Given the description of an element on the screen output the (x, y) to click on. 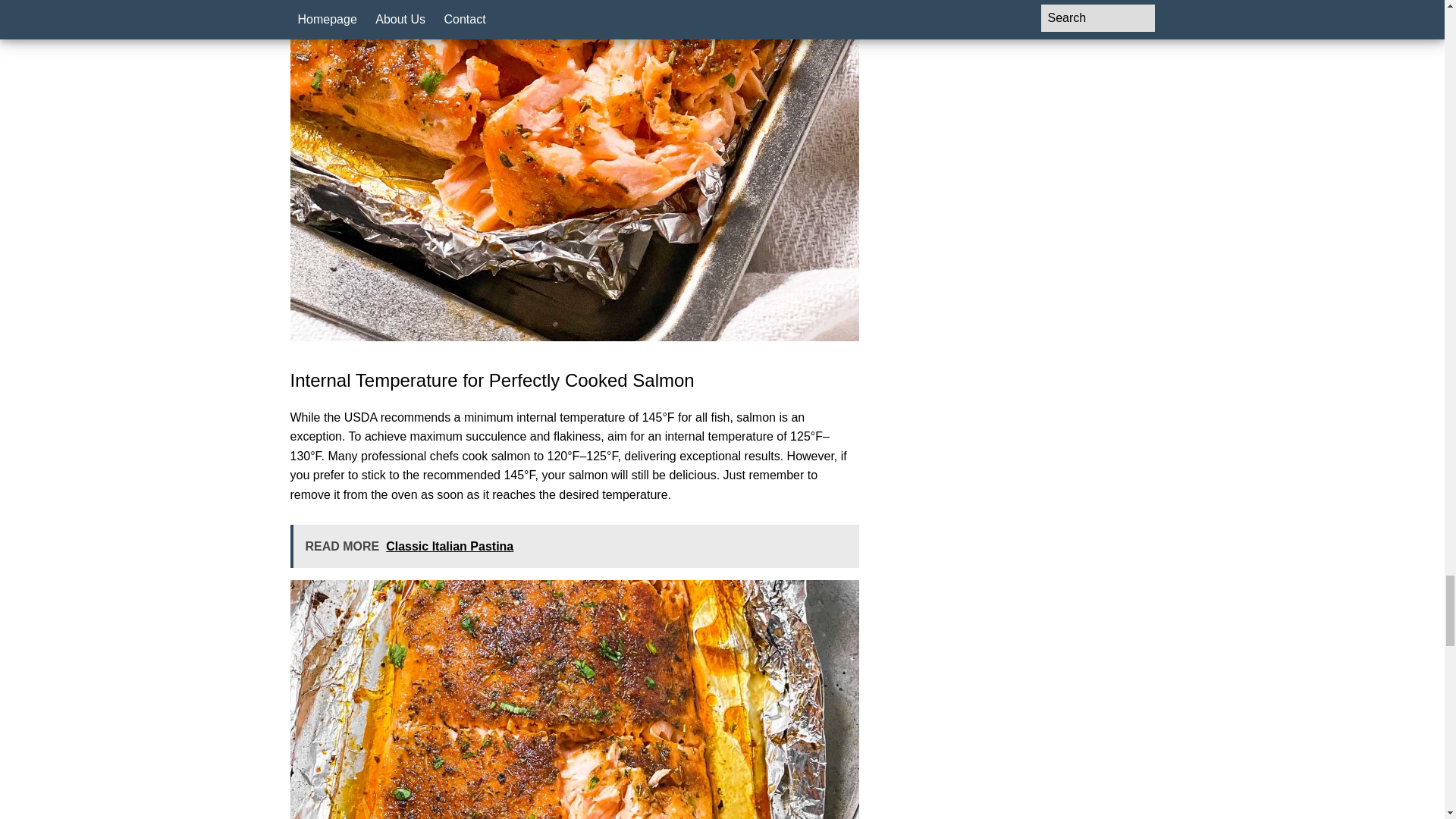
READ MORE  Classic Italian Pastina (574, 546)
